Given the description of an element on the screen output the (x, y) to click on. 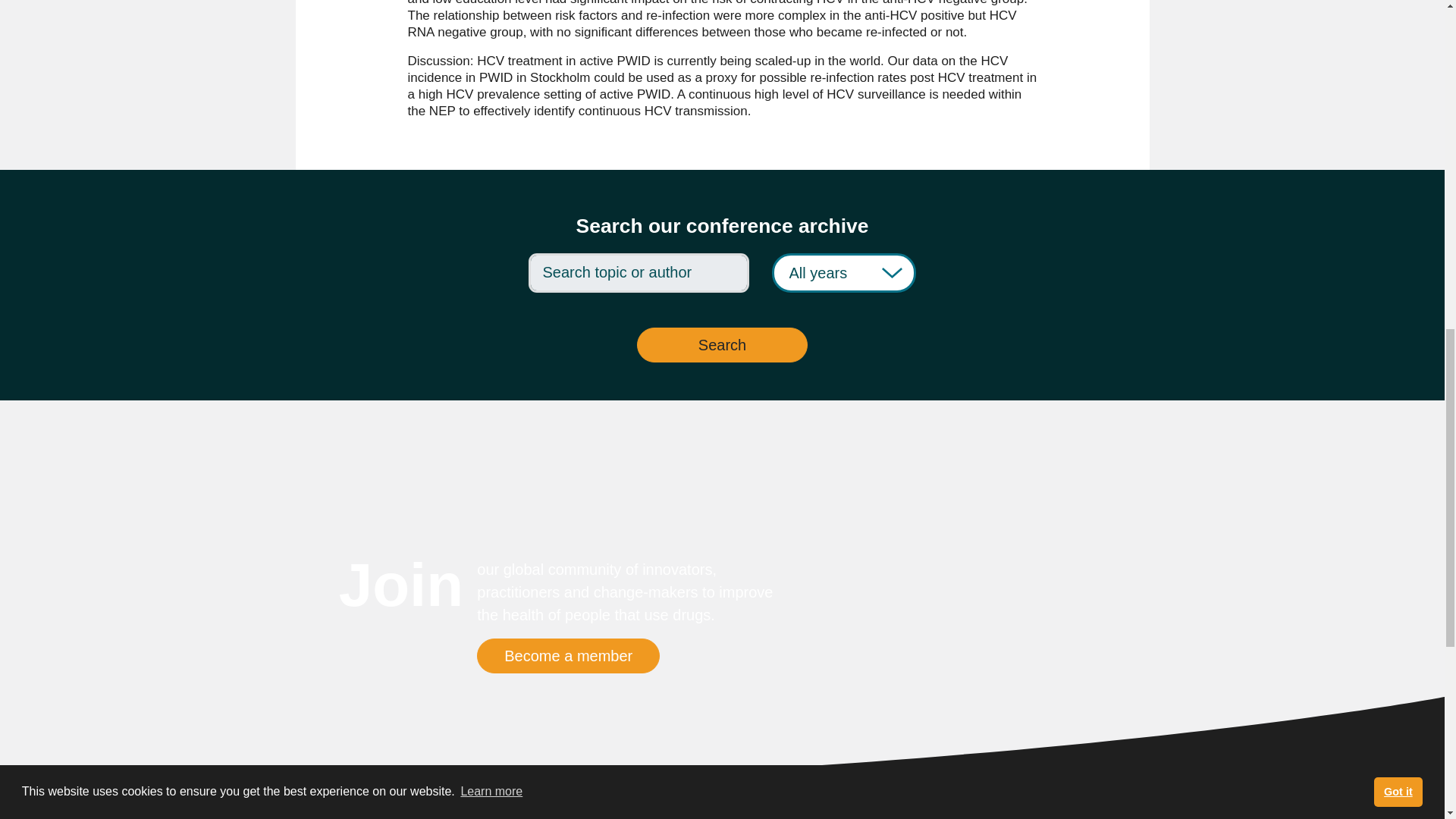
Search (722, 344)
